Given the description of an element on the screen output the (x, y) to click on. 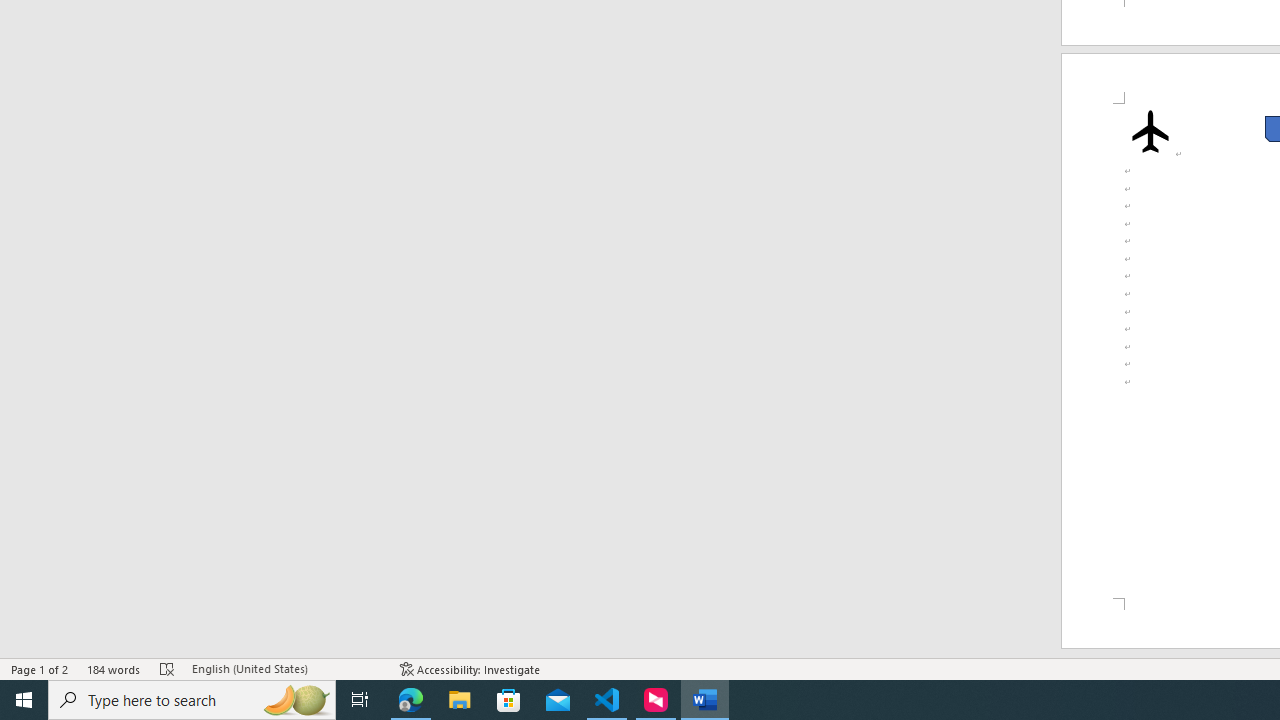
Page Number Page 1 of 2 (39, 668)
Spelling and Grammar Check Errors (168, 668)
Word Count 184 words (113, 668)
Airplane with solid fill (1150, 130)
Accessibility Checker Accessibility: Investigate (470, 668)
Language English (United States) (286, 668)
